Given the description of an element on the screen output the (x, y) to click on. 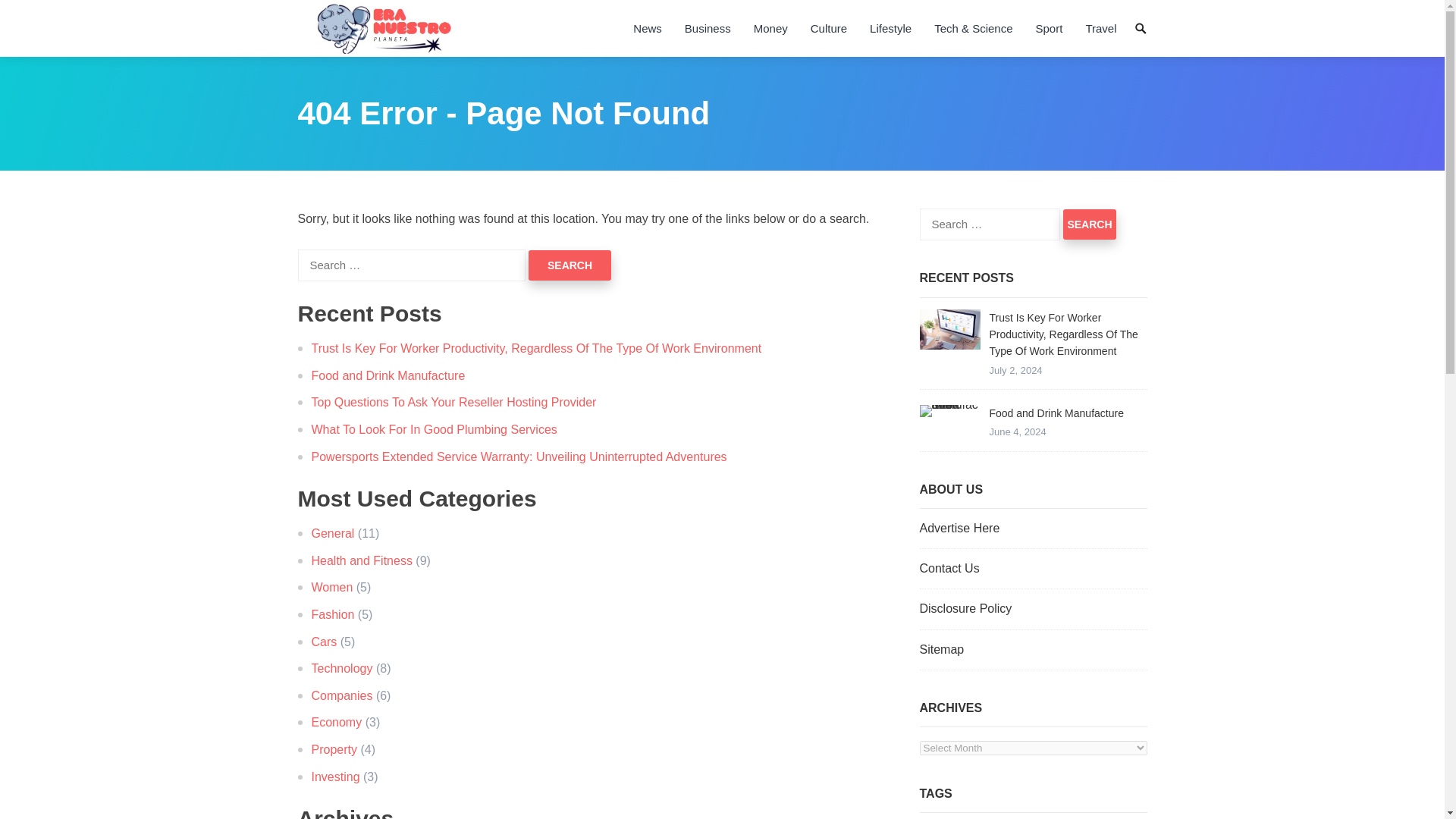
Search (1089, 224)
Search (1089, 224)
Search (569, 265)
Business (707, 28)
Search (569, 265)
Culture (829, 28)
Money (770, 28)
Food and Drink Manufacture (948, 410)
News (646, 28)
Lifestyle (891, 28)
